Given the description of an element on the screen output the (x, y) to click on. 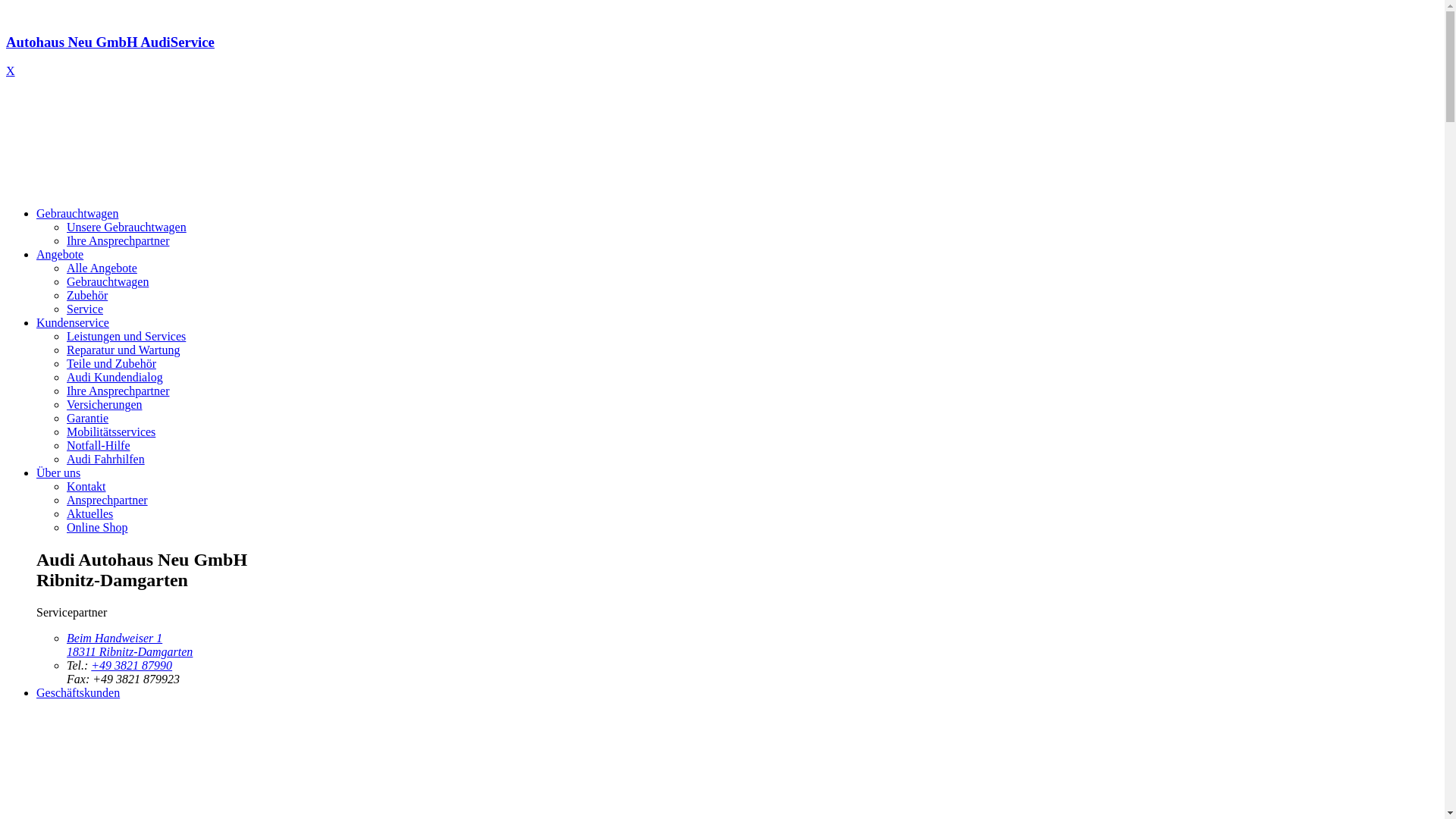
Gebrauchtwagen Element type: text (77, 213)
Alle Angebote Element type: text (101, 267)
Kundenservice Element type: text (72, 322)
Ihre Ansprechpartner Element type: text (117, 240)
Online Shop Element type: text (96, 526)
Gebrauchtwagen Element type: text (107, 281)
Garantie Element type: text (87, 417)
Service Element type: text (84, 308)
Ansprechpartner Element type: text (106, 499)
Reparatur und Wartung Element type: text (122, 349)
Notfall-Hilfe Element type: text (98, 445)
Kontakt Element type: text (86, 486)
Aktuelles Element type: text (89, 513)
Versicherungen Element type: text (104, 404)
Autohaus Neu GmbH AudiService Element type: text (722, 56)
+49 3821 87990 Element type: text (131, 664)
Angebote Element type: text (59, 253)
Beim Handweiser 1
18311 Ribnitz-Damgarten Element type: text (129, 644)
Audi Fahrhilfen Element type: text (105, 458)
X Element type: text (10, 70)
Unsere Gebrauchtwagen Element type: text (126, 226)
Ihre Ansprechpartner Element type: text (117, 390)
Audi Kundendialog Element type: text (114, 376)
Leistungen und Services Element type: text (125, 335)
